Given the description of an element on the screen output the (x, y) to click on. 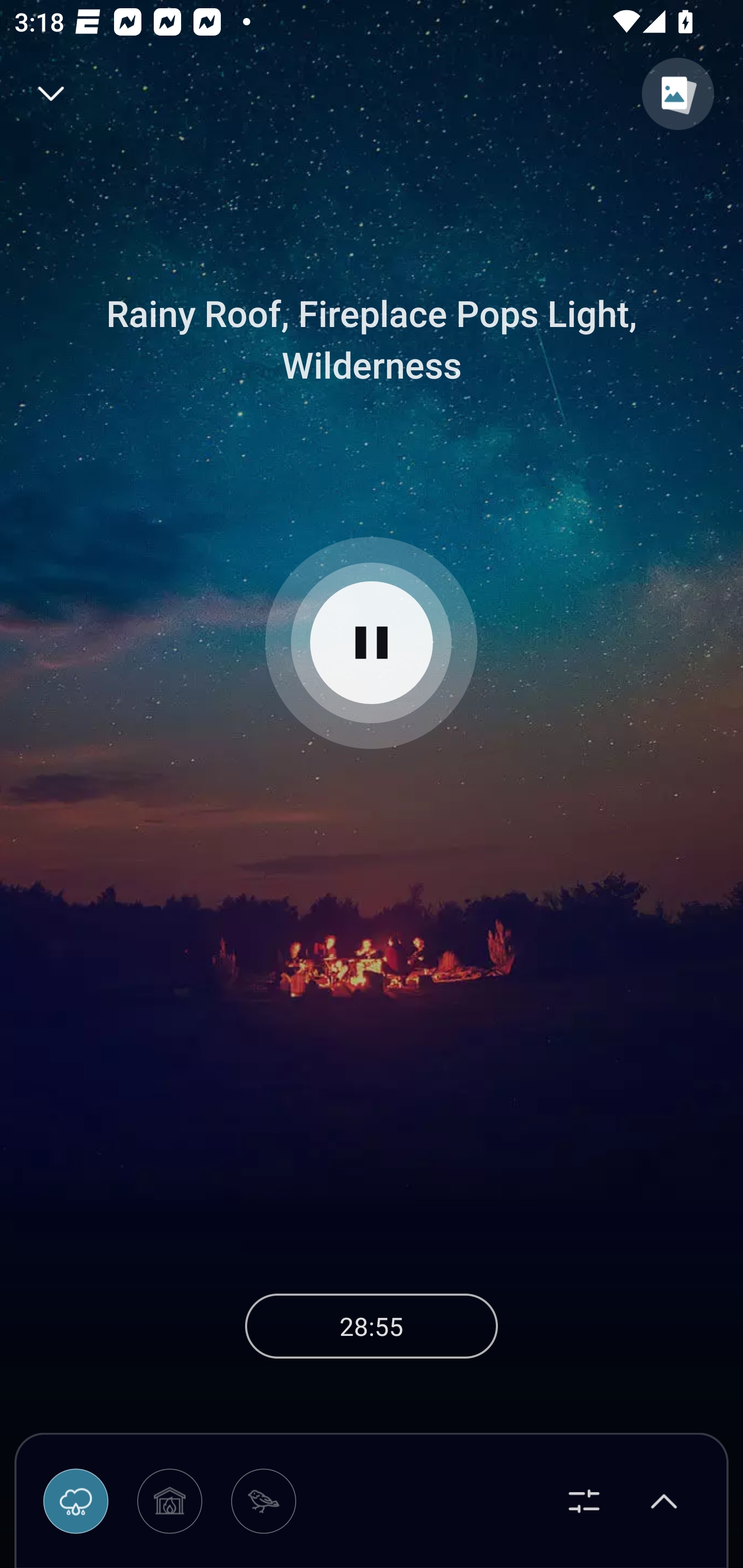
28:55 (371, 1325)
